Given the description of an element on the screen output the (x, y) to click on. 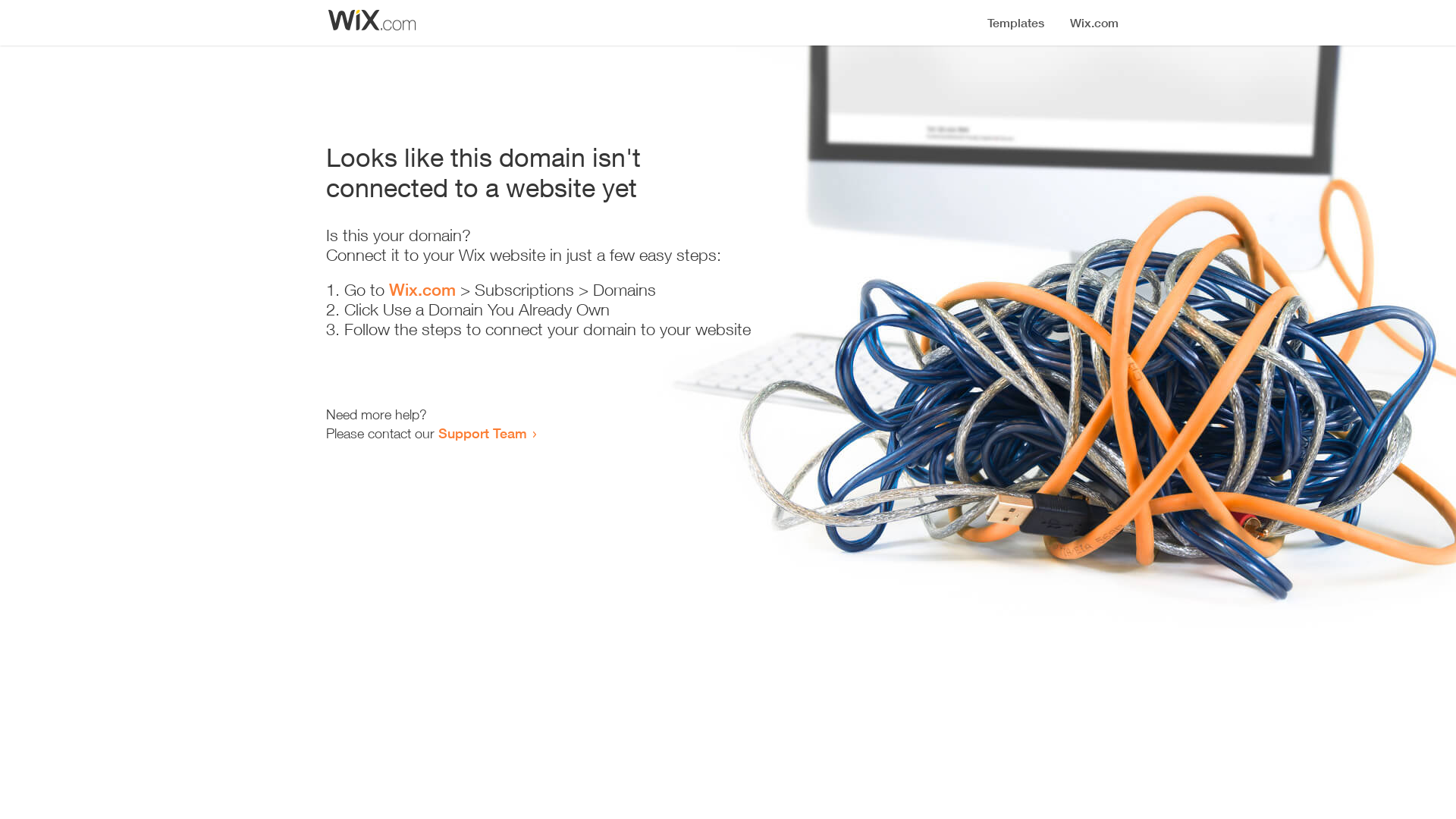
Support Team Element type: text (482, 432)
Wix.com Element type: text (422, 289)
